Given the description of an element on the screen output the (x, y) to click on. 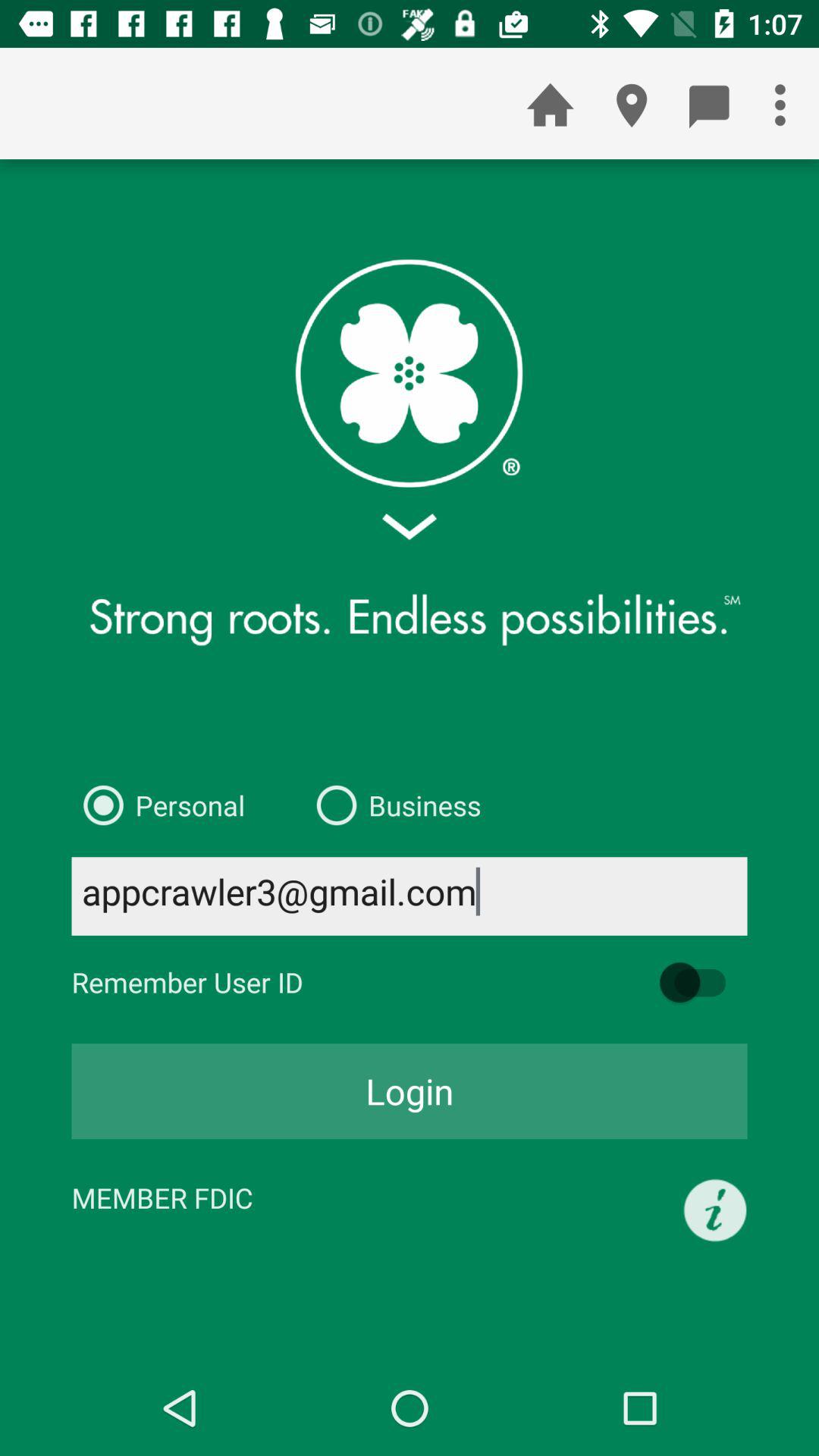
select the icon at the bottom (409, 1091)
